Given the description of an element on the screen output the (x, y) to click on. 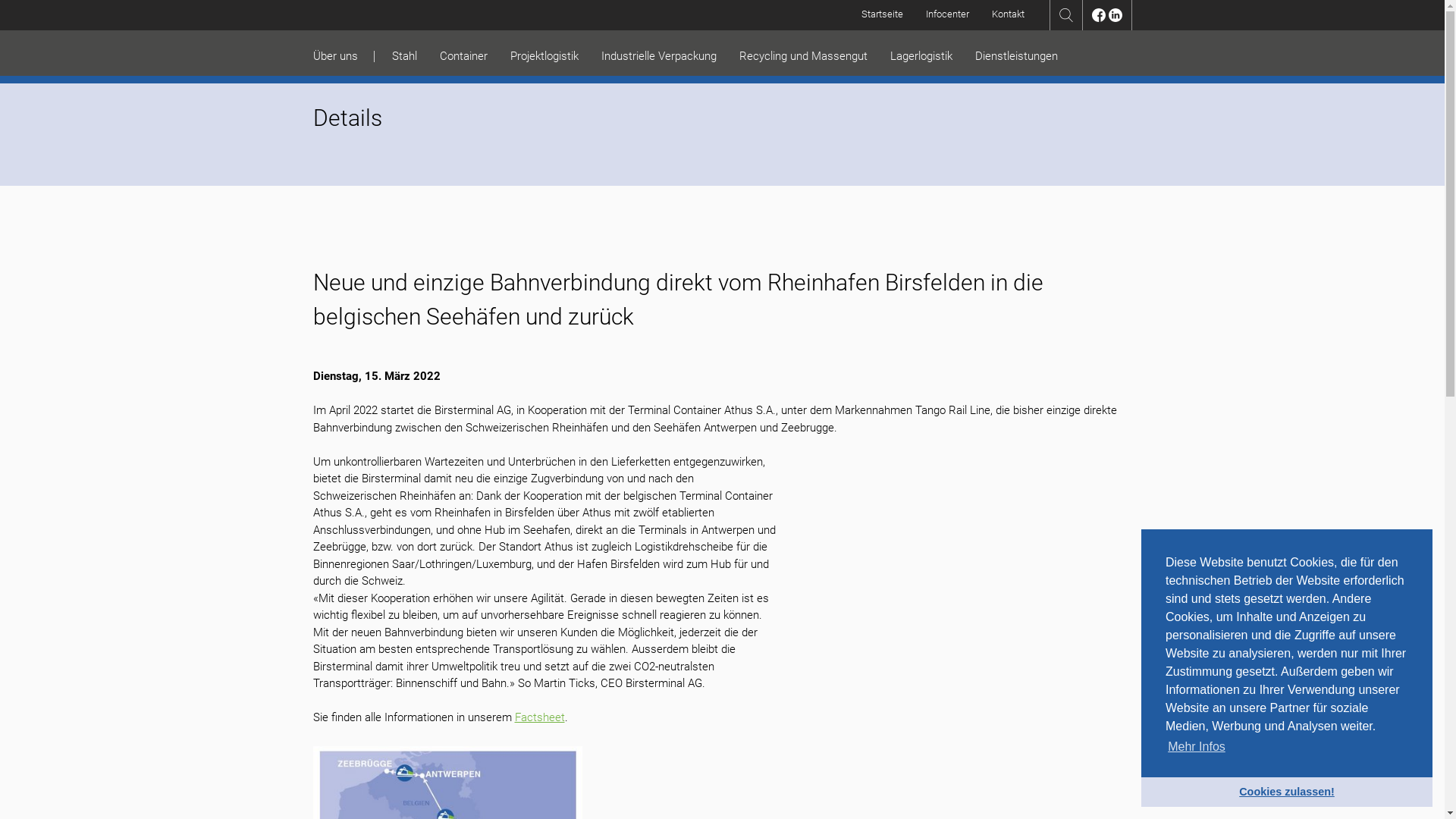
Dienstleistungen Element type: text (1016, 55)
Factsheet Element type: text (539, 717)
Kontakt Element type: text (1007, 14)
Cookies zulassen! Element type: text (1286, 791)
facebook Element type: hover (1098, 26)
Industrielle Verpackung Element type: text (657, 55)
Stahl Element type: text (403, 55)
Lagerlogistik Element type: text (921, 55)
Startseite Element type: text (882, 14)
Suche Element type: hover (1065, 26)
Infocenter Element type: text (947, 14)
Recycling und Massengut Element type: text (802, 55)
Projektlogistik Element type: text (543, 55)
Mehr Infos Element type: text (1196, 746)
Container Element type: text (463, 55)
linkedin Element type: hover (1115, 26)
